Given the description of an element on the screen output the (x, y) to click on. 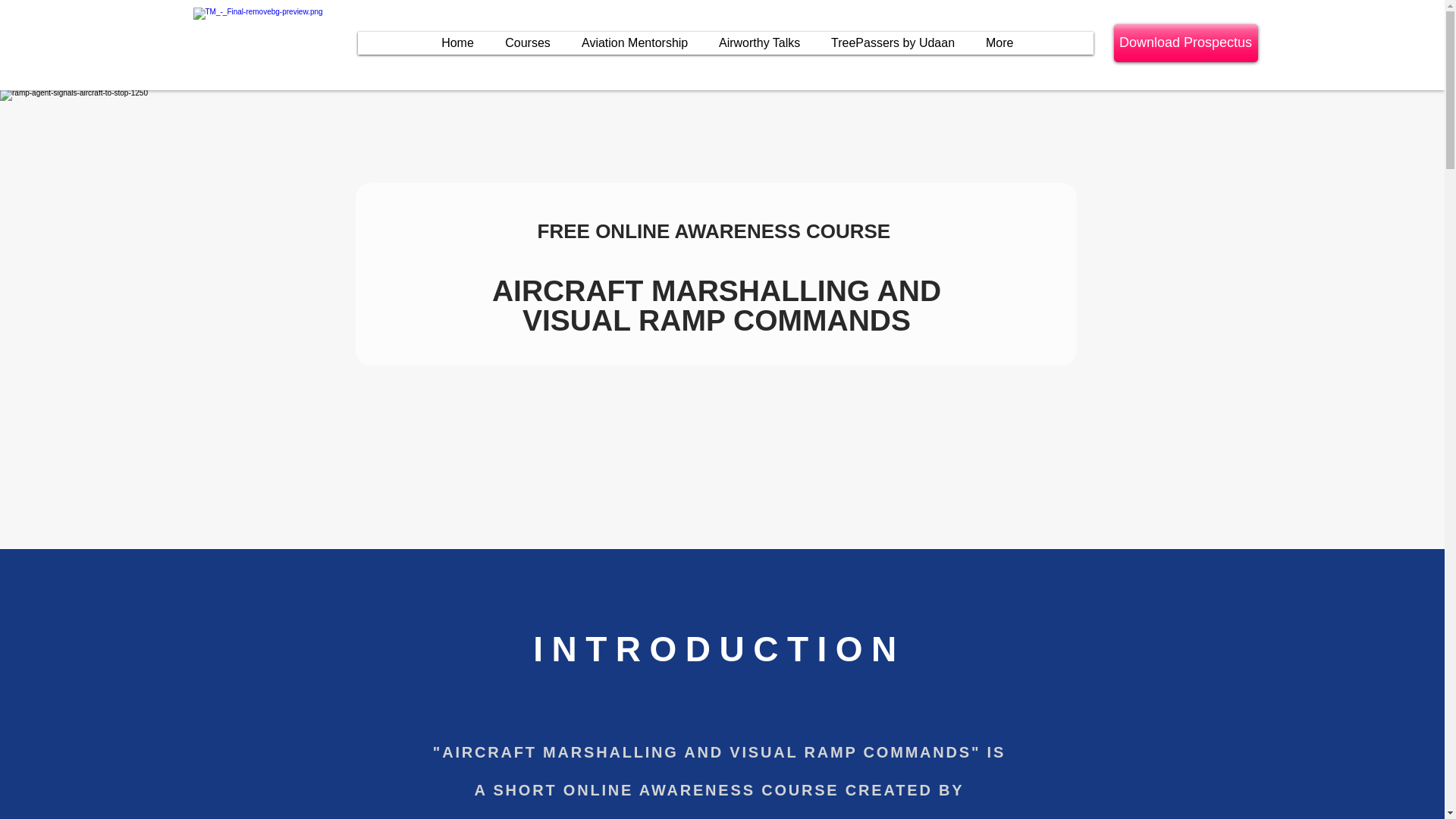
Aviation Mentorship (634, 43)
Download Prospectus (1185, 43)
TreePassers by Udaan (892, 43)
Home (457, 43)
Airworthy Talks (758, 43)
Courses (528, 43)
